Given the description of an element on the screen output the (x, y) to click on. 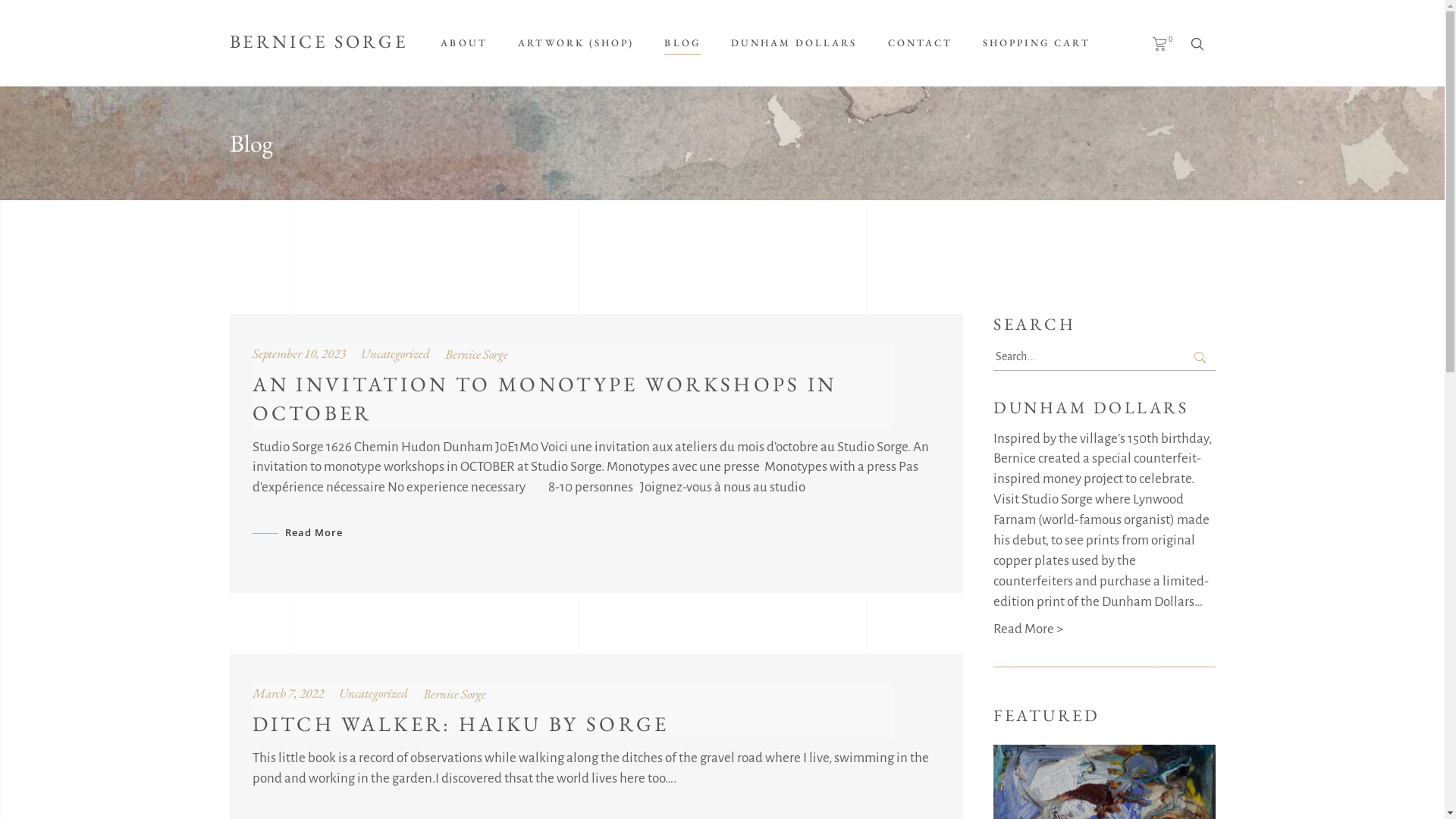
DUNHAM DOLLARS Element type: text (793, 42)
Bernice Sorge Element type: text (475, 353)
BLOG Element type: text (682, 42)
Search for: Element type: hover (1104, 357)
Read More > Element type: text (1028, 628)
SHOPPING CART Element type: text (1036, 42)
Uncategorized Element type: text (372, 692)
ABOUT Element type: text (463, 42)
Uncategorized Element type: text (394, 353)
AN INVITATION TO MONOTYPE WORKSHOPS IN OCTOBER Element type: text (543, 398)
Bernice Sorge Element type: text (454, 693)
BERNICE SORGE Element type: text (318, 43)
0 Element type: text (1162, 43)
ARTWORK (SHOP) Element type: text (575, 42)
Read More Element type: text (296, 531)
March 7, 2022 Element type: text (287, 692)
September 10, 2023 Element type: text (298, 353)
DITCH WALKER: HAIKU BY SORGE Element type: text (459, 723)
CONTACT Element type: text (919, 42)
